Given the description of an element on the screen output the (x, y) to click on. 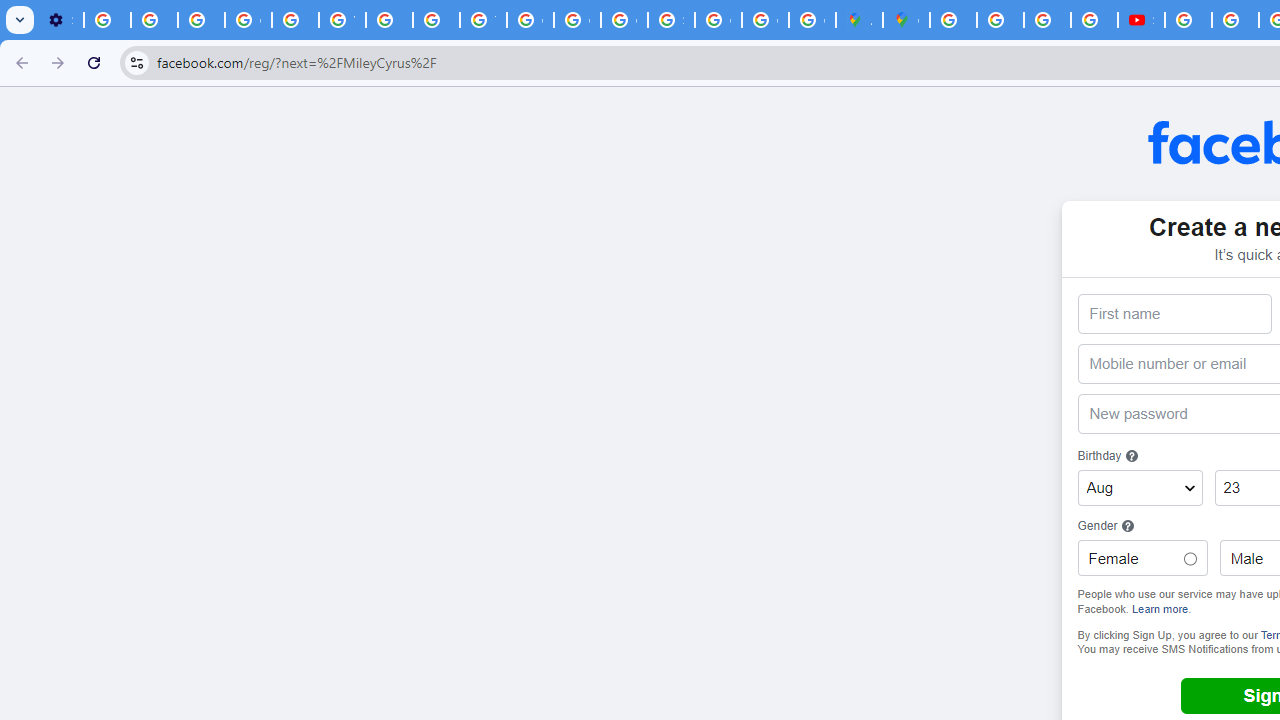
Click for more information (1127, 526)
Back (19, 62)
View site information (136, 62)
Female (1189, 559)
Learn more (1160, 607)
Reload (93, 62)
Google Maps (906, 20)
Privacy Help Center - Policies Help (1047, 20)
Settings - Customize profile (60, 20)
Learn how to find your photos - Google Photos Help (153, 20)
Search tabs (20, 20)
Month (1139, 488)
Google Account Help (248, 20)
https://scholar.google.com/ (389, 20)
